Given the description of an element on the screen output the (x, y) to click on. 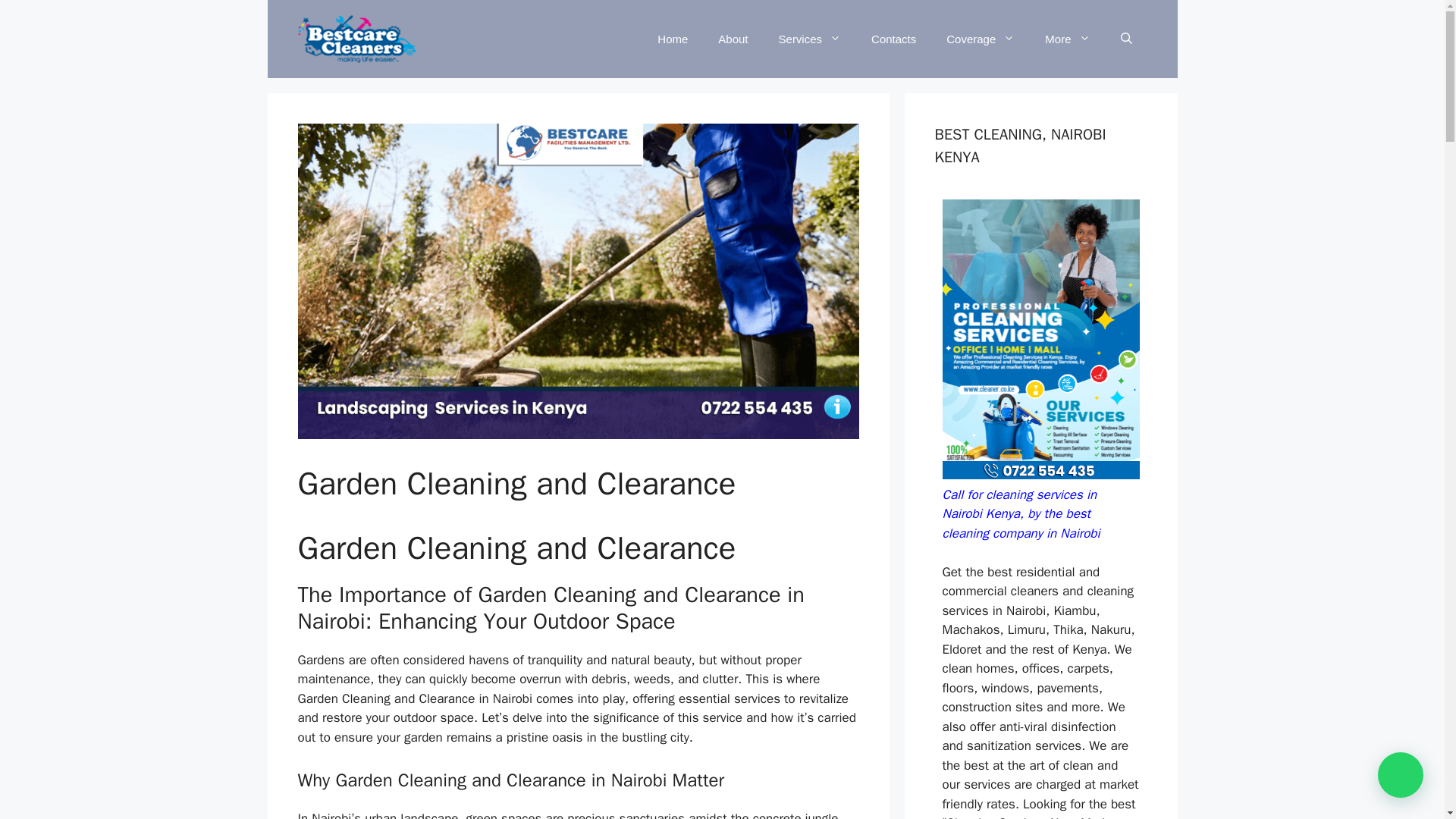
About (732, 39)
Home (672, 39)
Coverage (980, 39)
Contacts (893, 39)
Services (809, 39)
